Given the description of an element on the screen output the (x, y) to click on. 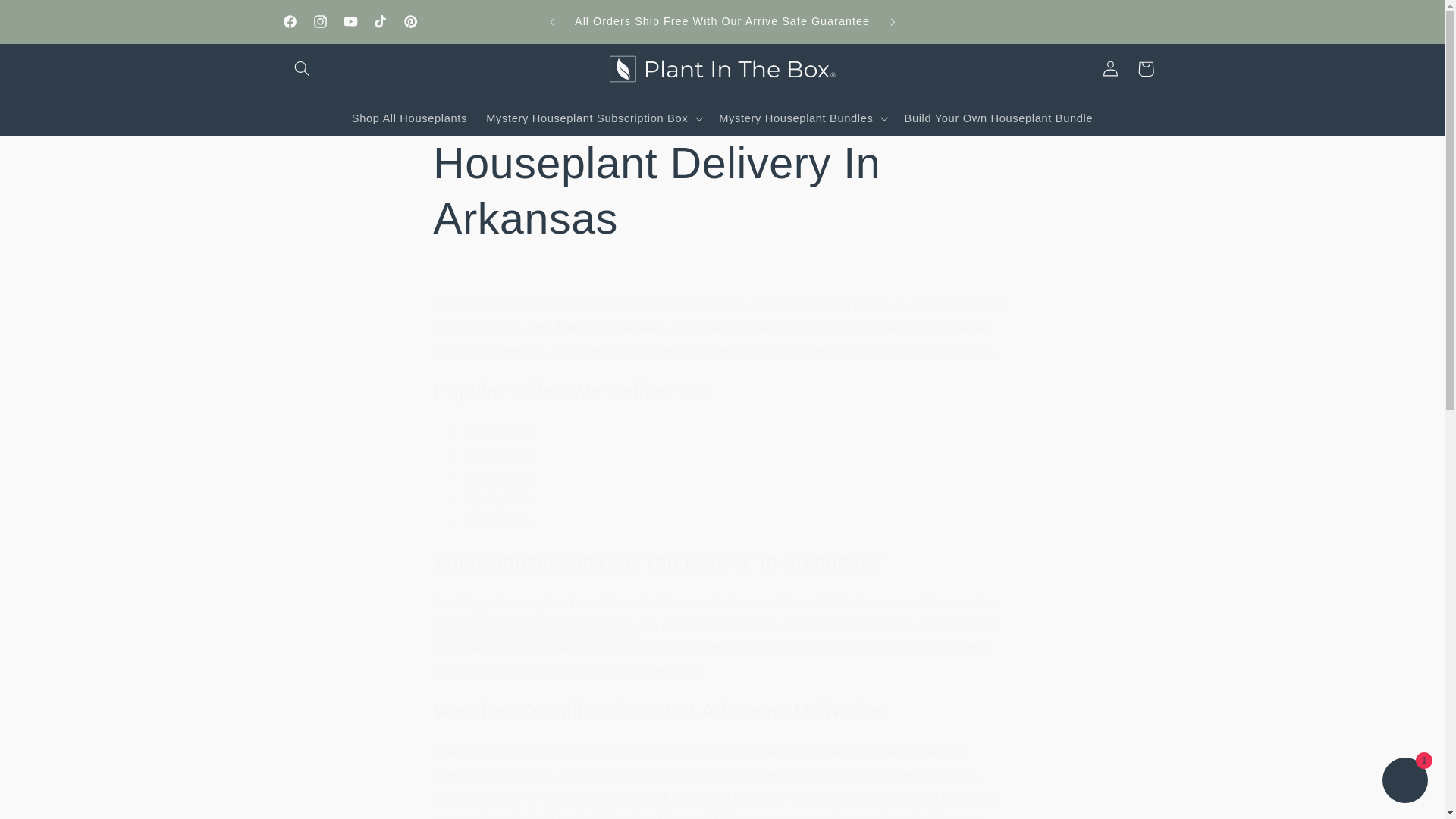
Houseplant Delivery In Arkansas (721, 191)
YouTube (349, 21)
premium one-time purchase indoor plants (882, 647)
Instagram (319, 21)
Pinterest (411, 21)
Shop All Houseplants (409, 118)
Easy Care Houseplant Subscription Box (714, 614)
Skip to content (48, 18)
Shopify online store chat (1404, 781)
Facebook (289, 21)
TikTok (380, 21)
